Given the description of an element on the screen output the (x, y) to click on. 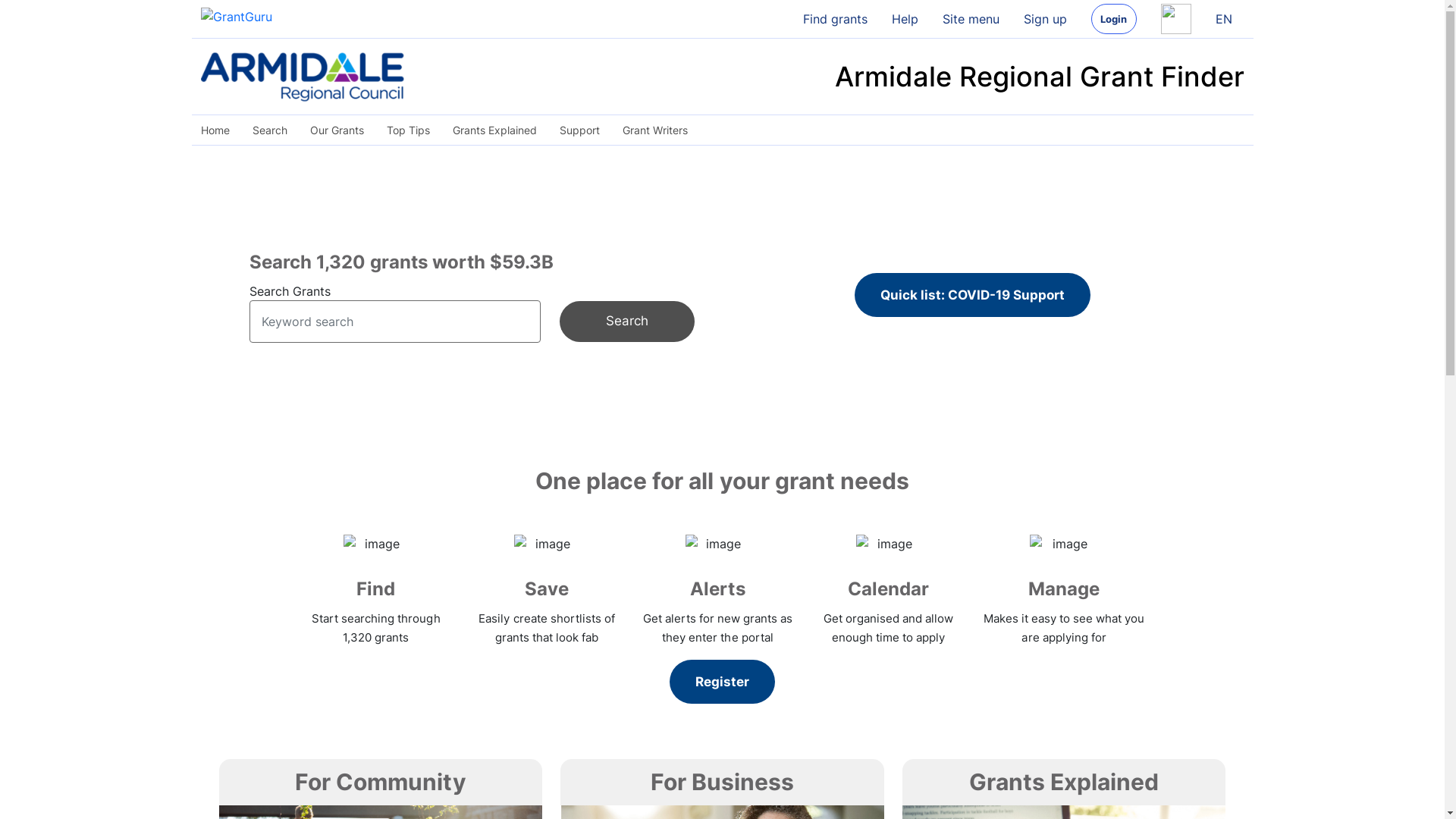
Home Element type: text (220, 129)
Quick list: COVID-19 Support Element type: text (972, 294)
Help Element type: text (904, 18)
Find grants Element type: text (834, 18)
Register Element type: text (722, 681)
Search Element type: text (269, 129)
Our Grants Element type: text (336, 129)
Login Element type: text (1113, 18)
Grants Explained Element type: text (494, 129)
Support Element type: text (578, 129)
EN Element type: text (1222, 18)
Top Tips Element type: text (407, 129)
Search Element type: text (626, 321)
Grant Writers Element type: text (655, 129)
Site menu Element type: text (969, 18)
Sign up Element type: text (1044, 18)
